Given the description of an element on the screen output the (x, y) to click on. 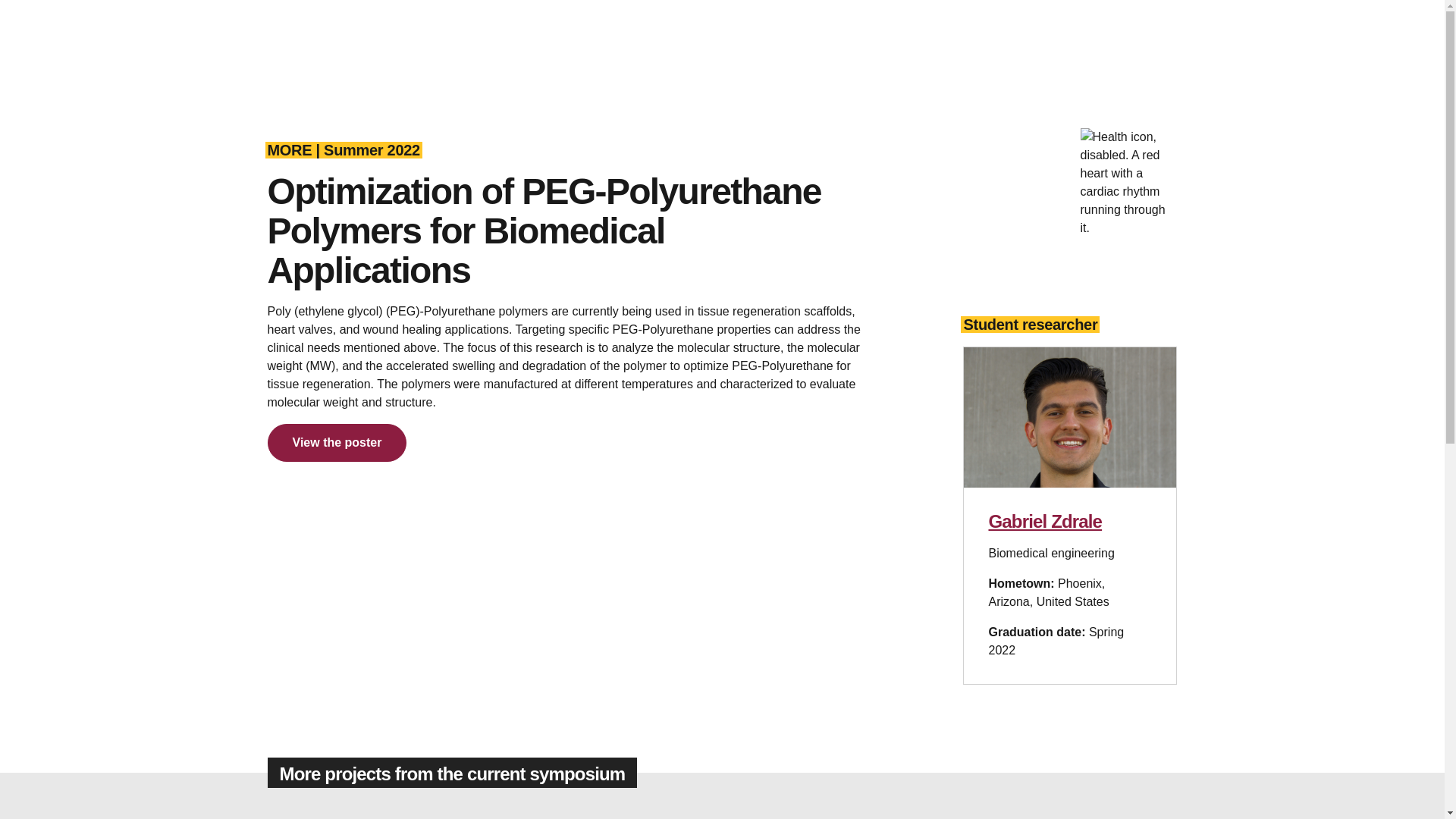
Gabriel Zdrale (1045, 521)
View the poster (336, 442)
